Given the description of an element on the screen output the (x, y) to click on. 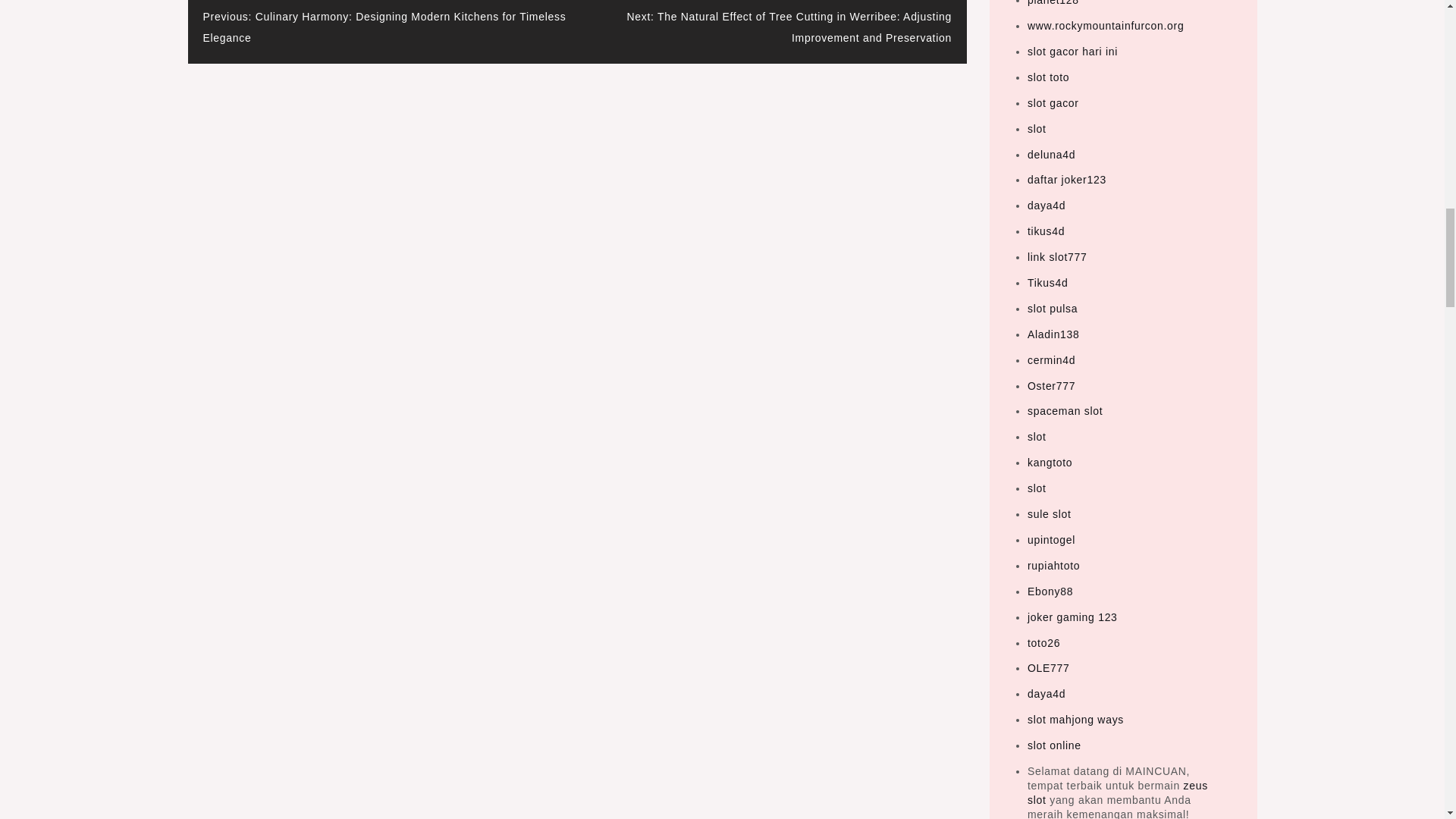
www.rockymountainfurcon.org (1105, 25)
slot gacor hari ini (1072, 51)
planet128 (1052, 2)
